Given the description of an element on the screen output the (x, y) to click on. 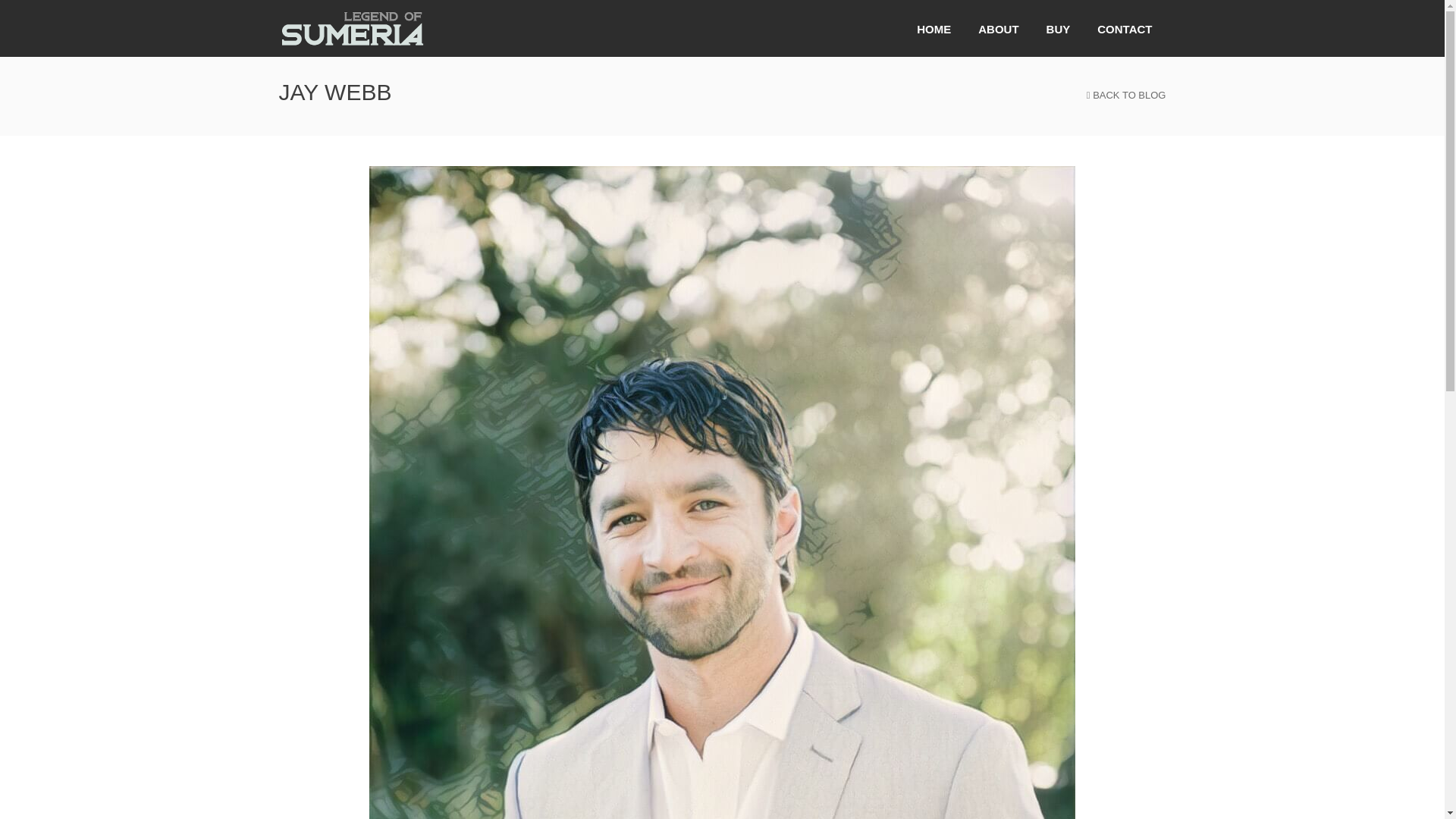
ABOUT (997, 28)
Back to Blog (1118, 95)
HOME (932, 28)
BACK TO BLOG (1118, 95)
CONTACT (1124, 28)
BUY (1058, 28)
